Given the description of an element on the screen output the (x, y) to click on. 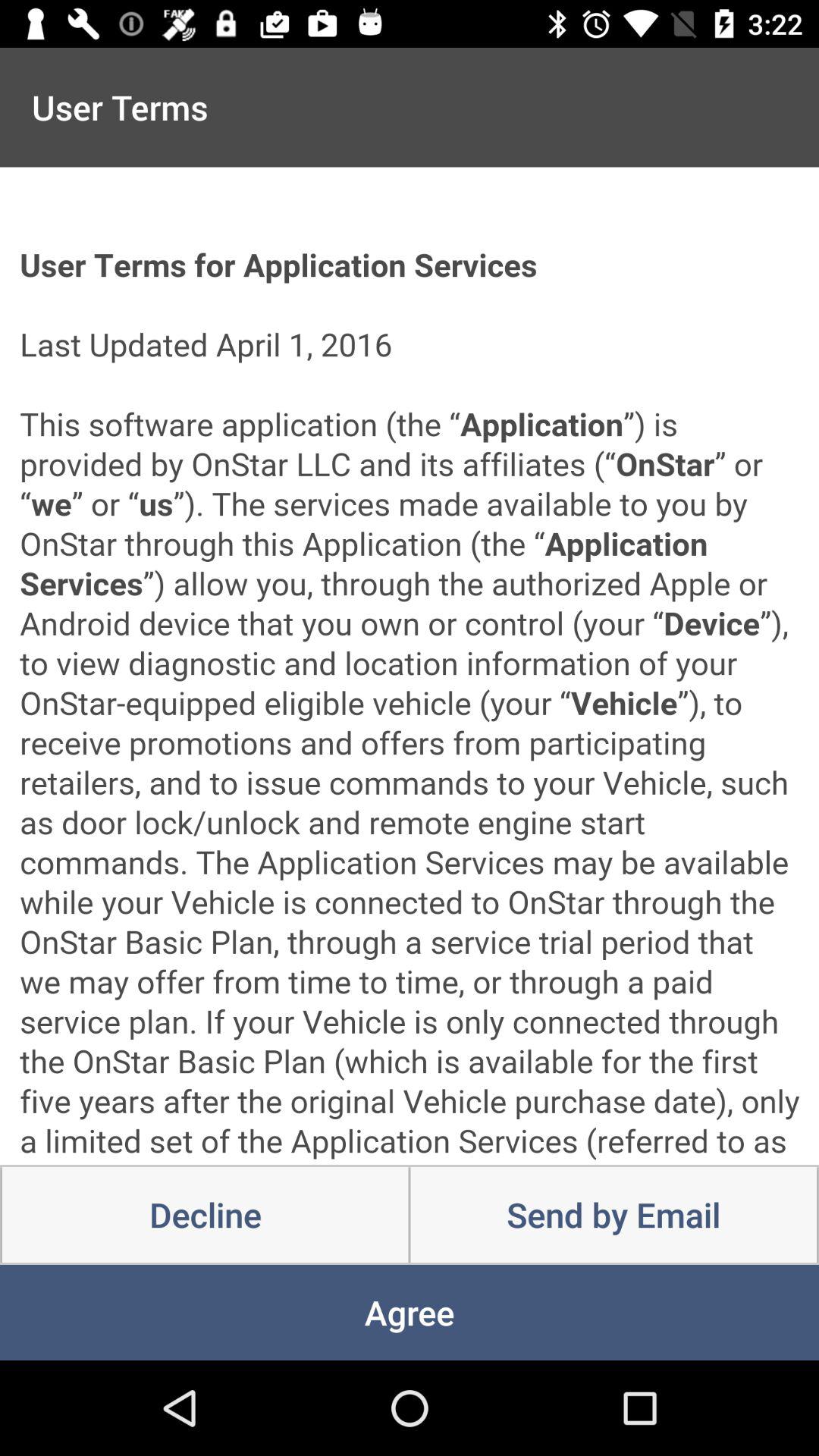
select the item above the agree item (613, 1214)
